Given the description of an element on the screen output the (x, y) to click on. 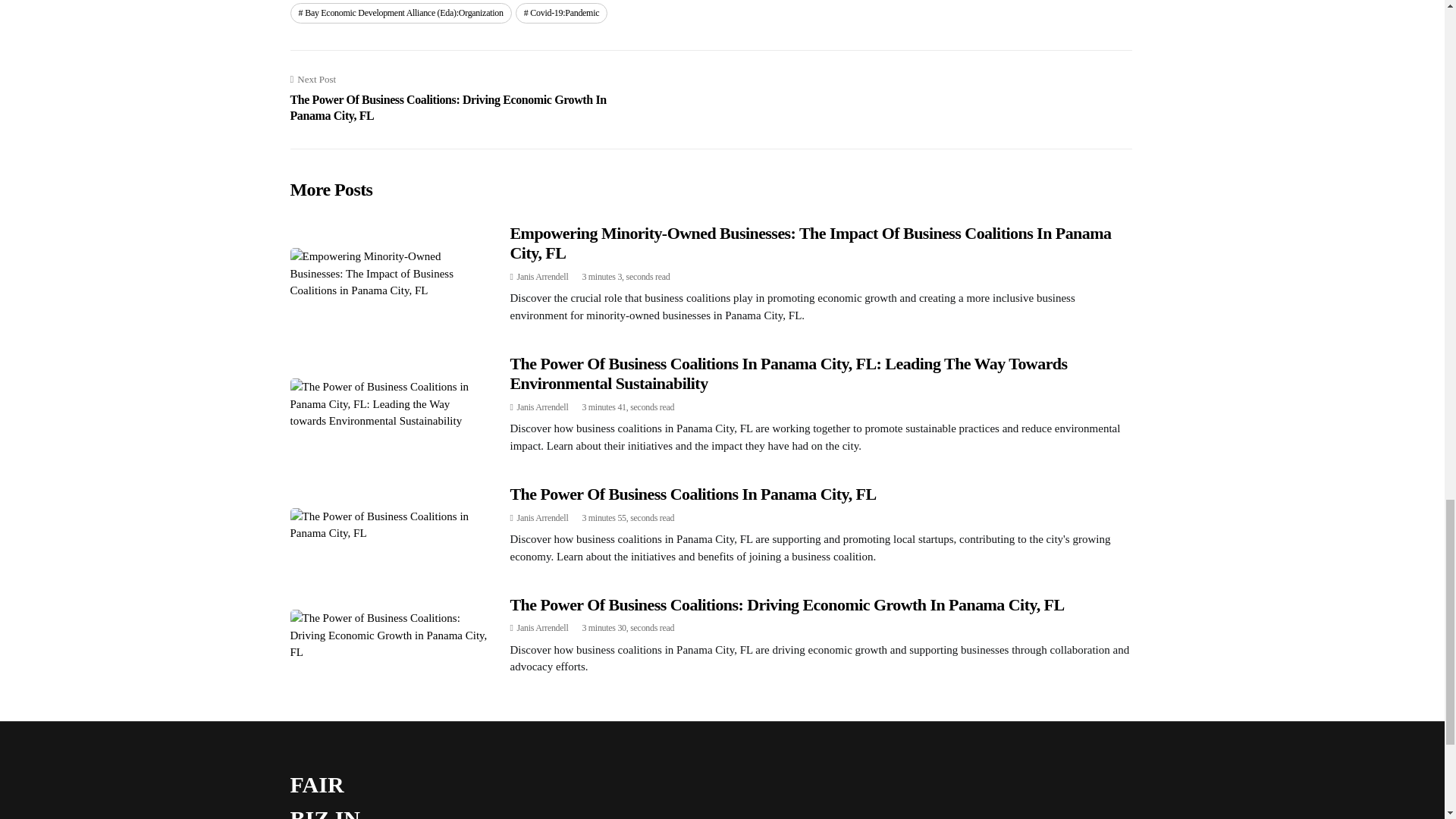
Janis Arrendell (542, 407)
Posts by Janis Arrendell (542, 276)
Posts by Janis Arrendell (542, 627)
Posts by Janis Arrendell (542, 407)
Posts by Janis Arrendell (542, 517)
Covid-19:Pandemic (561, 12)
Janis Arrendell (542, 276)
